Given the description of an element on the screen output the (x, y) to click on. 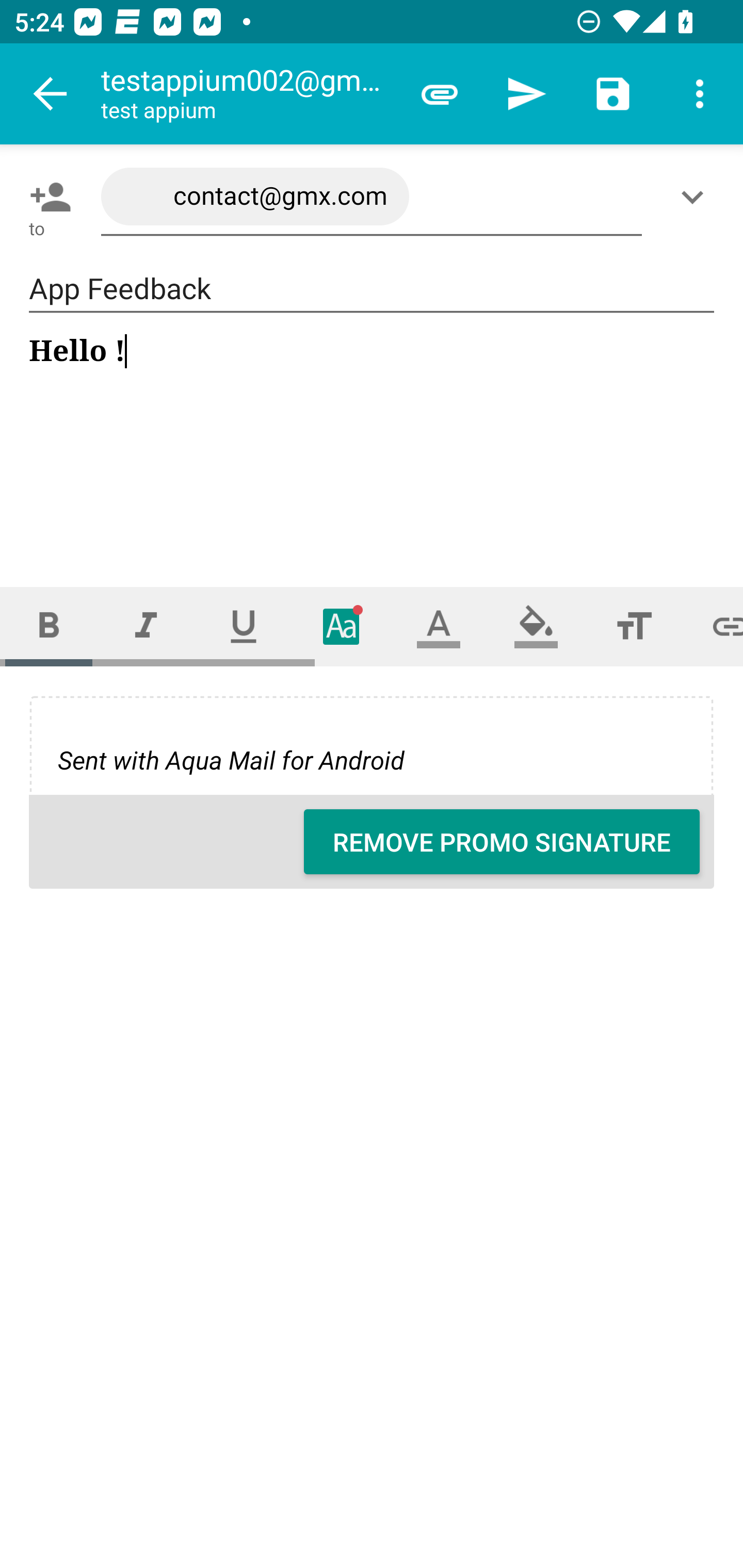
Navigate up (50, 93)
testappium002@gmail.com test appium (248, 93)
Attach (439, 93)
Send (525, 93)
Save (612, 93)
More options (699, 93)
contact@gmx.com,  (371, 197)
Pick contact: To (46, 196)
Show/Add CC/BCC (696, 196)
App Feedback (371, 288)
Hello ! (372, 442)
Bold (48, 626)
Italic (145, 626)
Underline (243, 626)
Typeface (font) (341, 626)
Text color (438, 626)
Fill color (536, 626)
Font size (633, 626)
Set link (712, 626)
REMOVE PROMO SIGNATURE (501, 841)
